Given the description of an element on the screen output the (x, y) to click on. 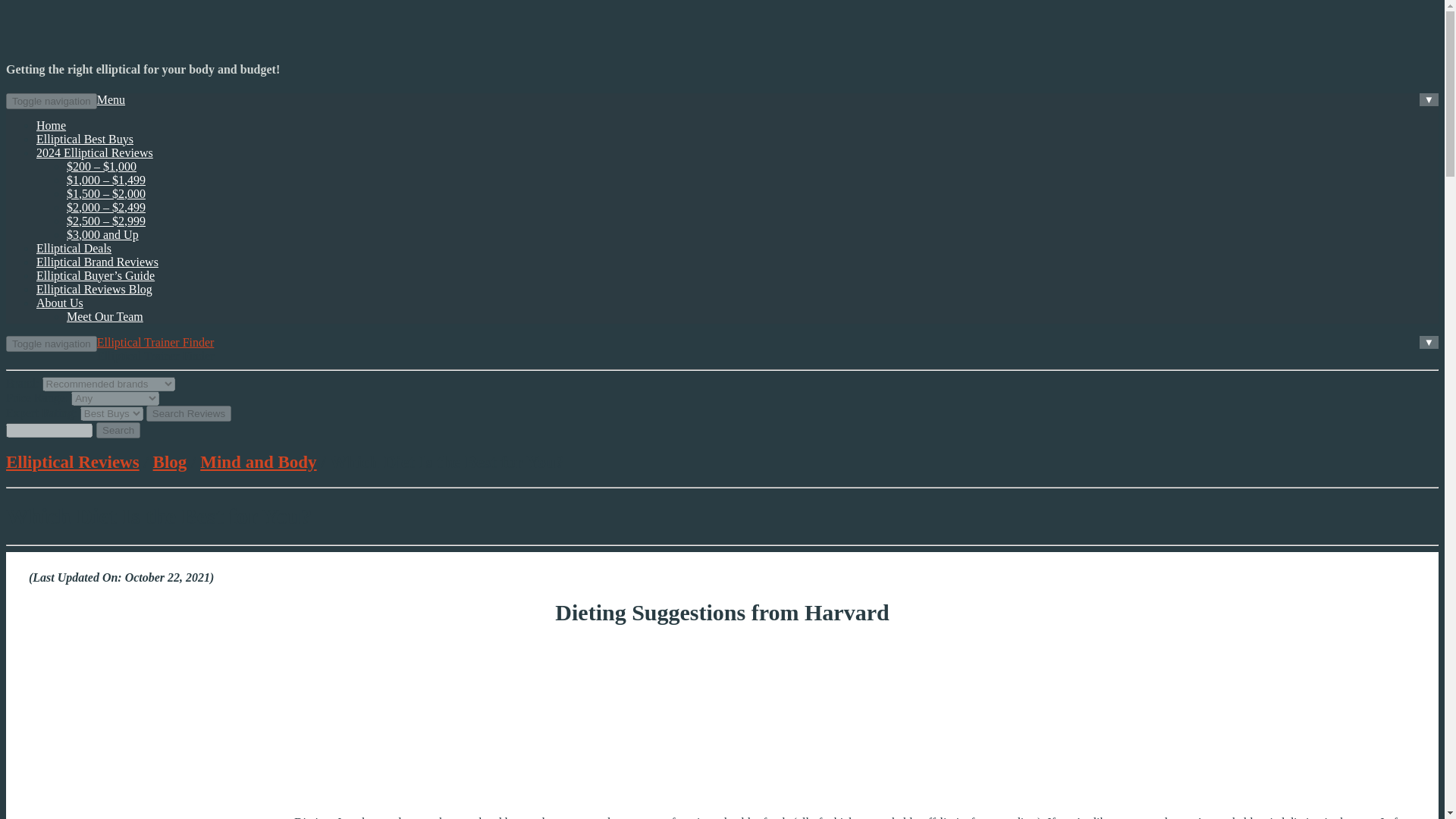
Meet Our Team (104, 316)
Elliptical Best Buys (84, 138)
Search Reviews (189, 413)
2024 Elliptical Reviews (94, 152)
Elliptical Deals (74, 247)
Toggle navigation (51, 100)
Home (50, 124)
Search Reviews (189, 413)
Menu (111, 99)
Elliptical Brand Reviews (97, 261)
2024 Elliptical Reviews (94, 152)
About Us (59, 302)
Elliptical Reviews (72, 461)
Search (117, 430)
Go to Elliptical Reviews. (72, 461)
